Given the description of an element on the screen output the (x, y) to click on. 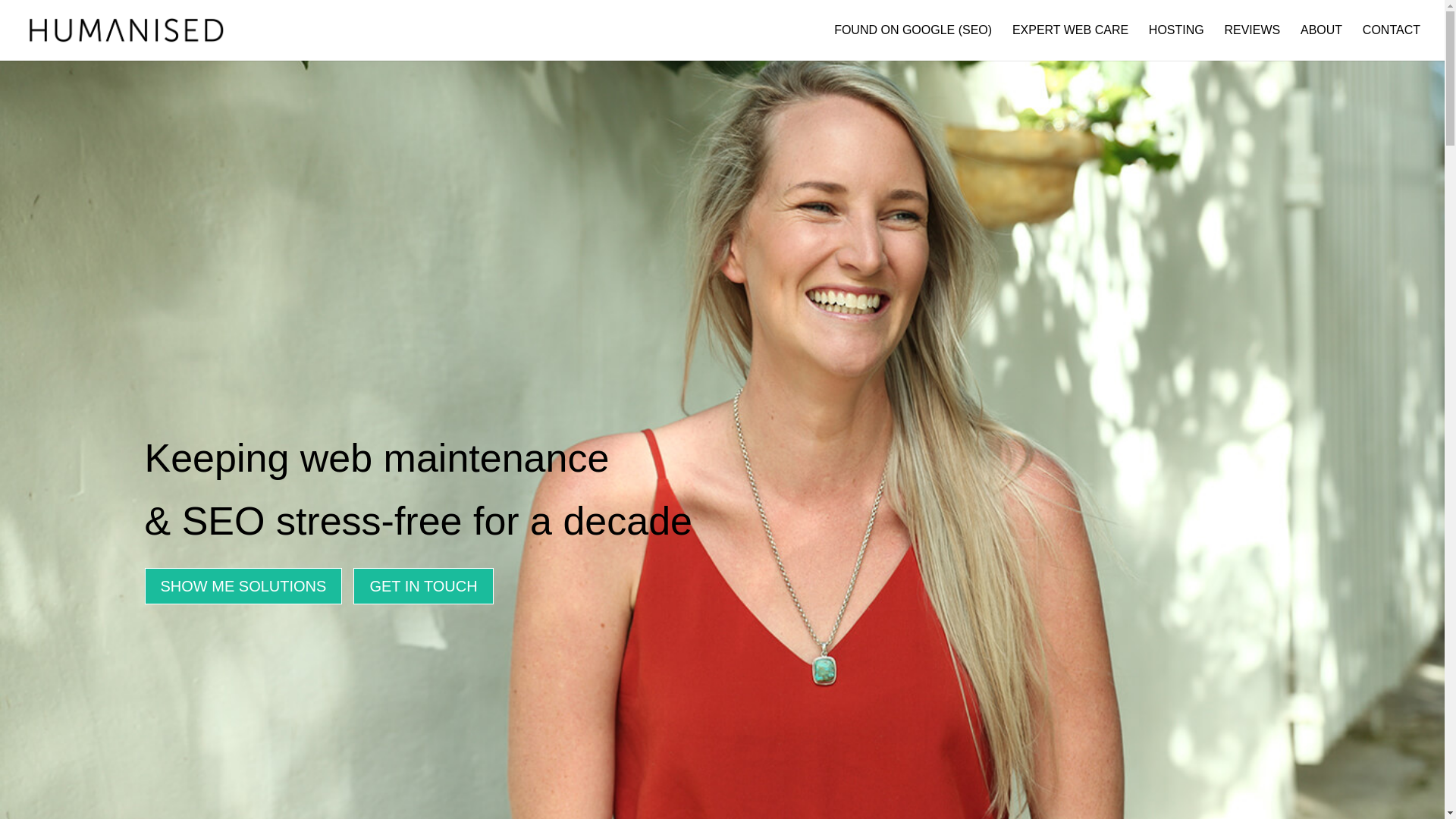
REVIEWS (1251, 42)
ABOUT (1321, 42)
GET IN TOUCH (423, 586)
CONTACT (1391, 42)
SHOW ME SOLUTIONS (243, 586)
HOSTING (1176, 42)
EXPERT WEB CARE (1069, 42)
